Given the description of an element on the screen output the (x, y) to click on. 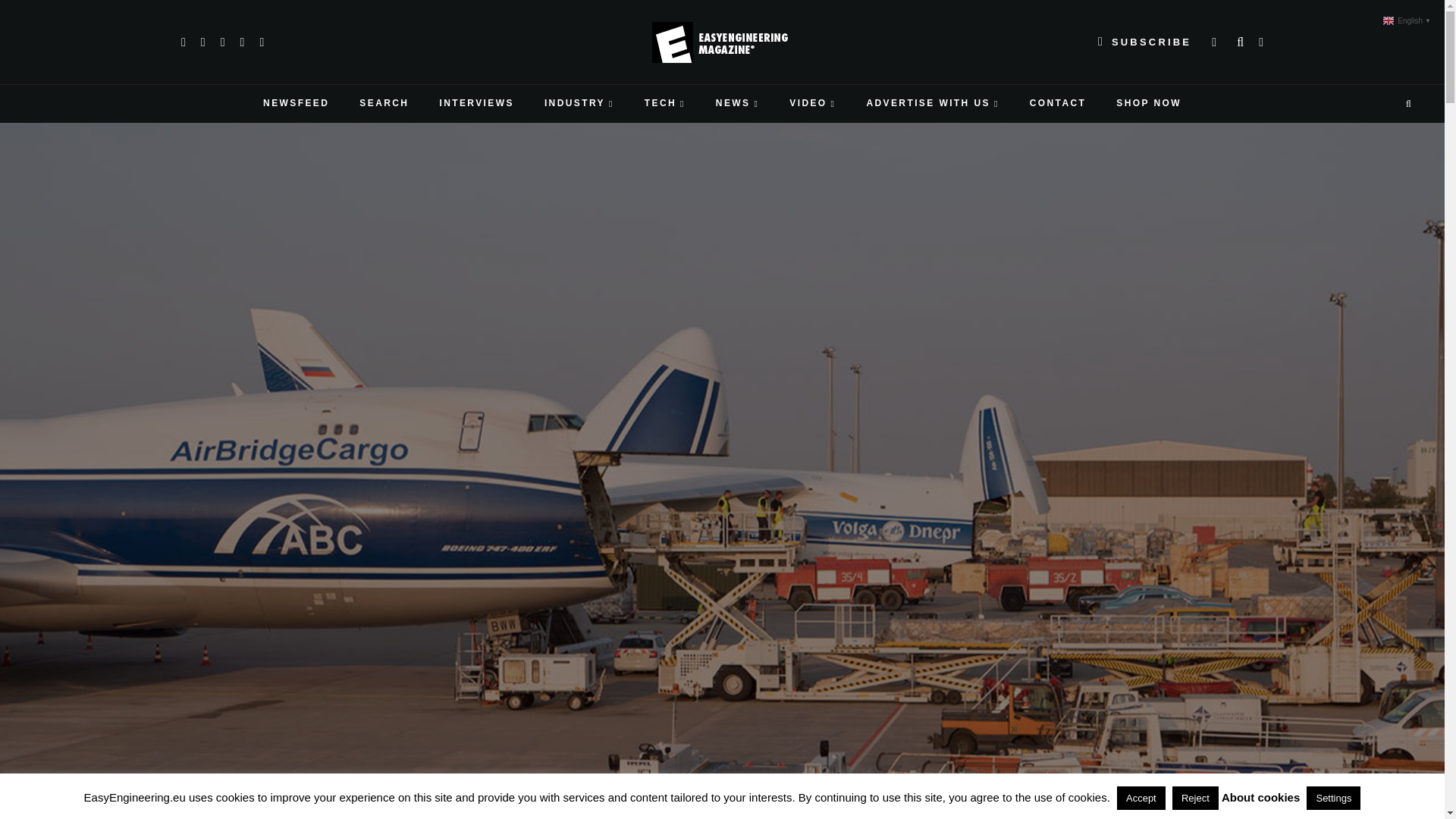
INDUSTRY (578, 103)
SEARCH (383, 103)
INTERVIEWS (475, 103)
SUBSCRIBE (1144, 41)
NEWSFEED (295, 103)
